Given the description of an element on the screen output the (x, y) to click on. 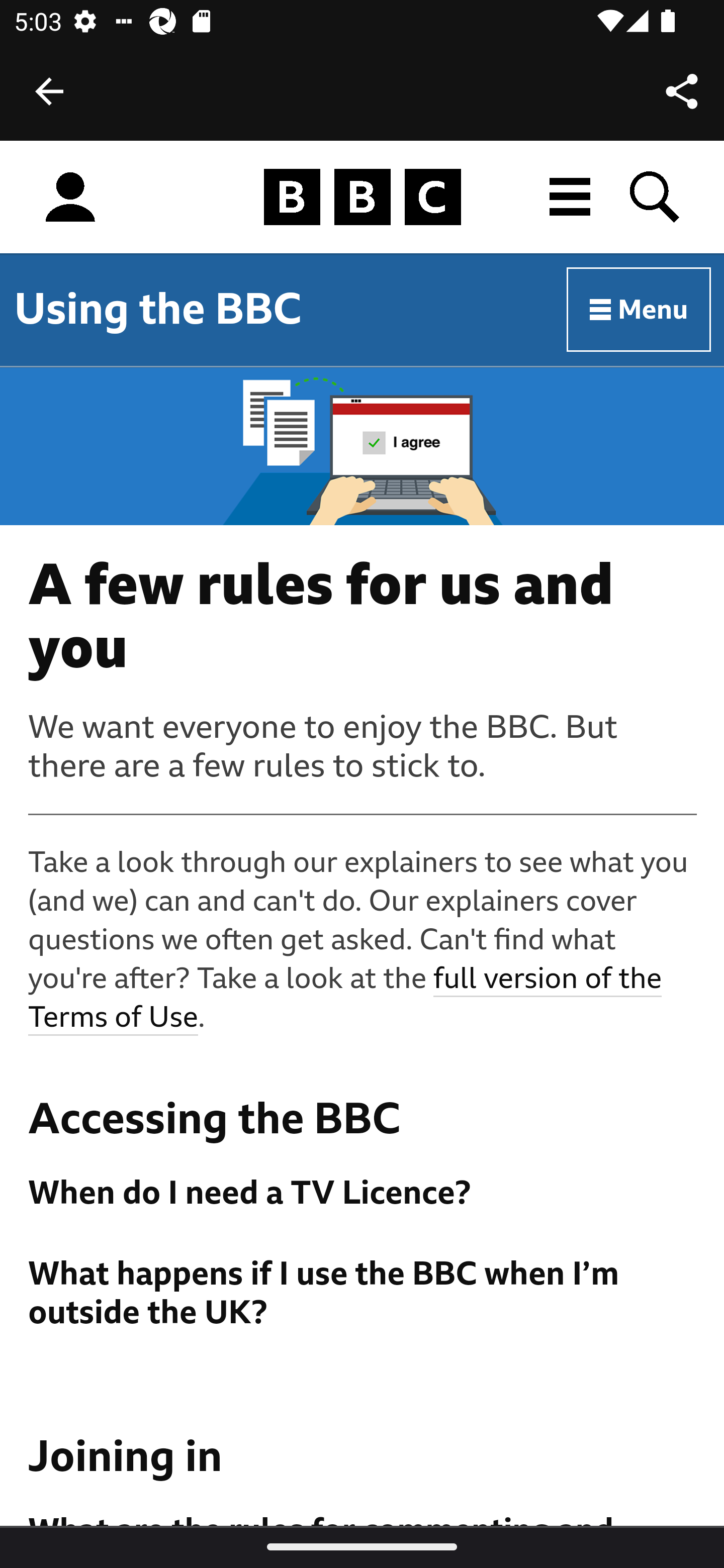
Back (49, 91)
Share (681, 90)
All BBC destinations menu (570, 197)
Search BBC (655, 197)
Sign in (70, 198)
Homepage (361, 198)
Menu (639, 310)
Using the BBC (157, 308)
full version of the Terms of Use (345, 998)
When do I need a TV Licence? (363, 1192)
